Given the description of an element on the screen output the (x, y) to click on. 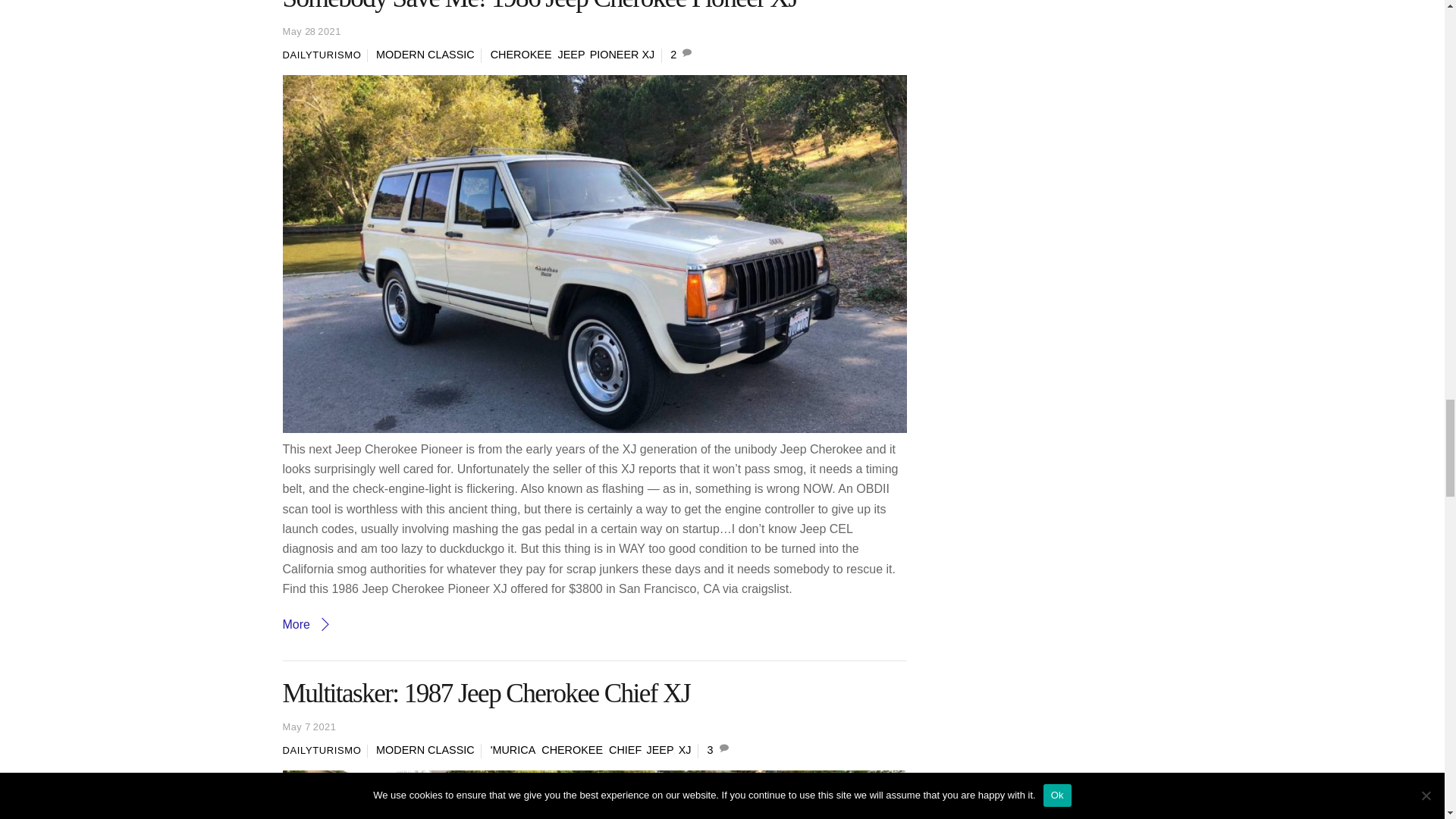
1-14 (594, 794)
